Given the description of an element on the screen output the (x, y) to click on. 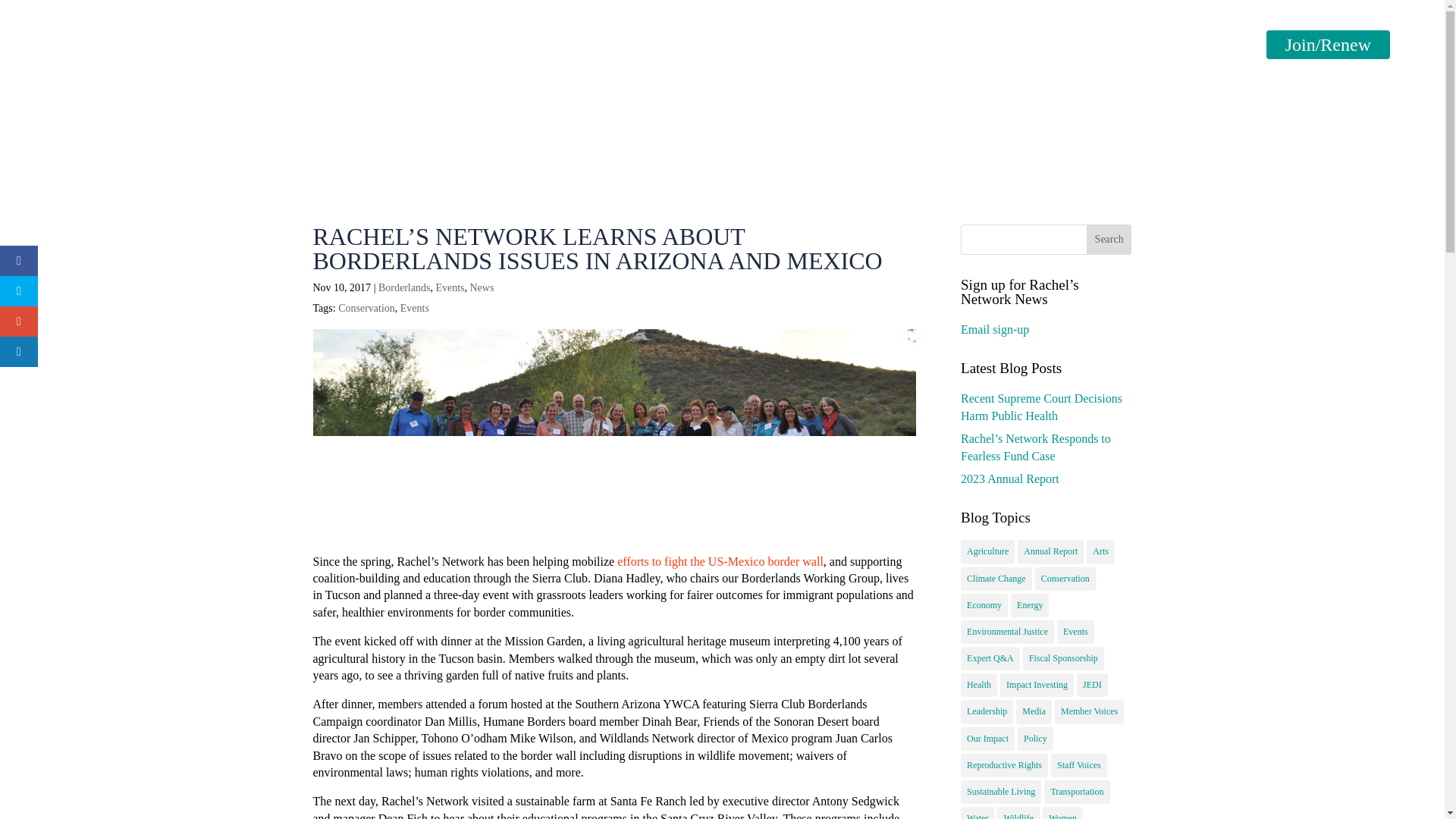
Conservation (1065, 578)
Search (1109, 239)
Annual Report (1050, 551)
Search (1109, 239)
News (480, 287)
Climate Change (996, 578)
Our Funding (988, 59)
Environmental Justice (1007, 631)
Events (449, 287)
Events (1148, 59)
